Given the description of an element on the screen output the (x, y) to click on. 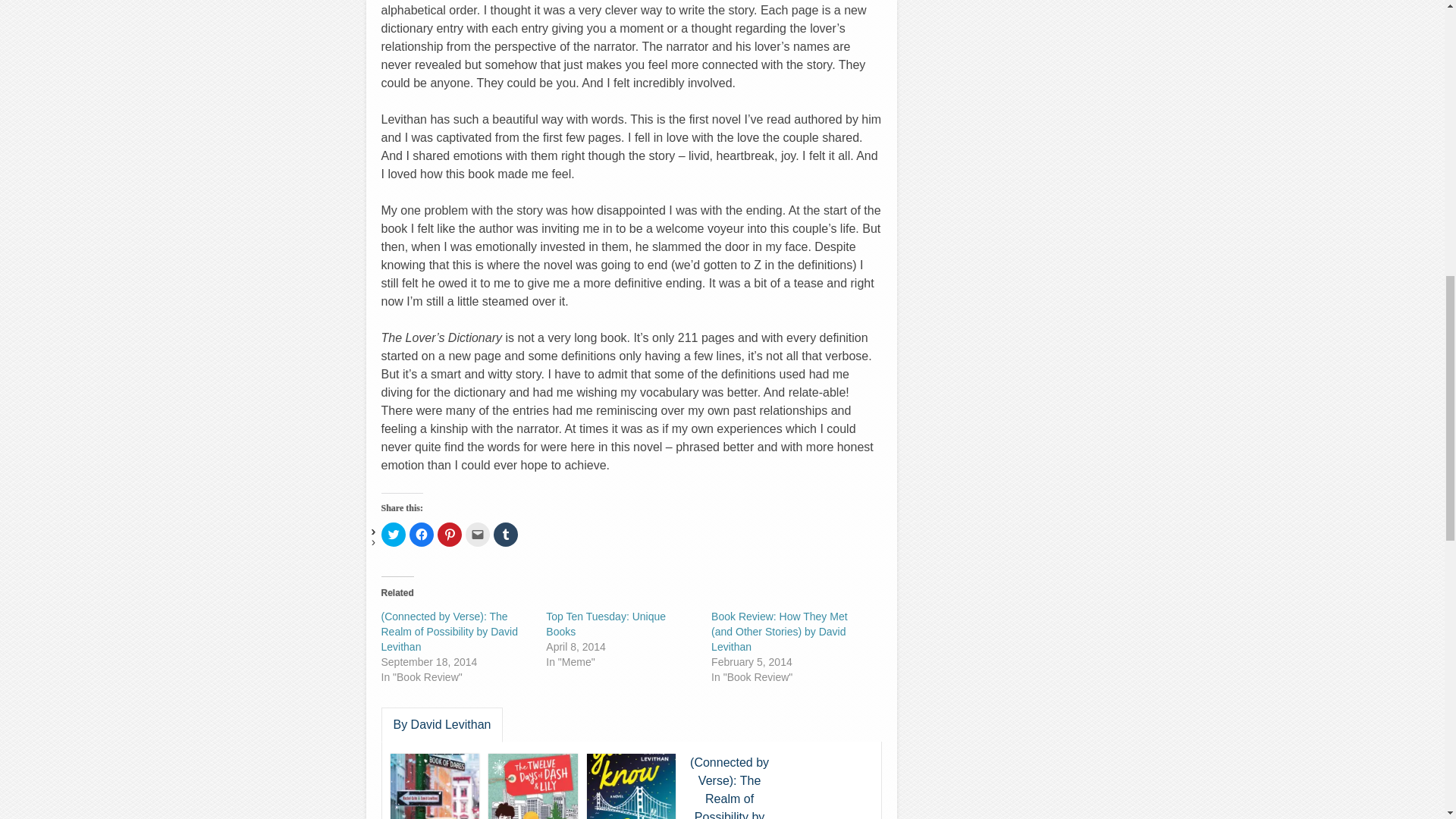
Click to email a link to a friend (477, 534)
Click to share on Tumblr (504, 534)
Click to share on Twitter (392, 534)
Click to share on Pinterest (448, 534)
Top Ten Tuesday: Unique Books (605, 624)
Click to share on Facebook (421, 534)
Top Ten Tuesday: Unique Books (605, 624)
By David Levithan (441, 725)
